Given the description of an element on the screen output the (x, y) to click on. 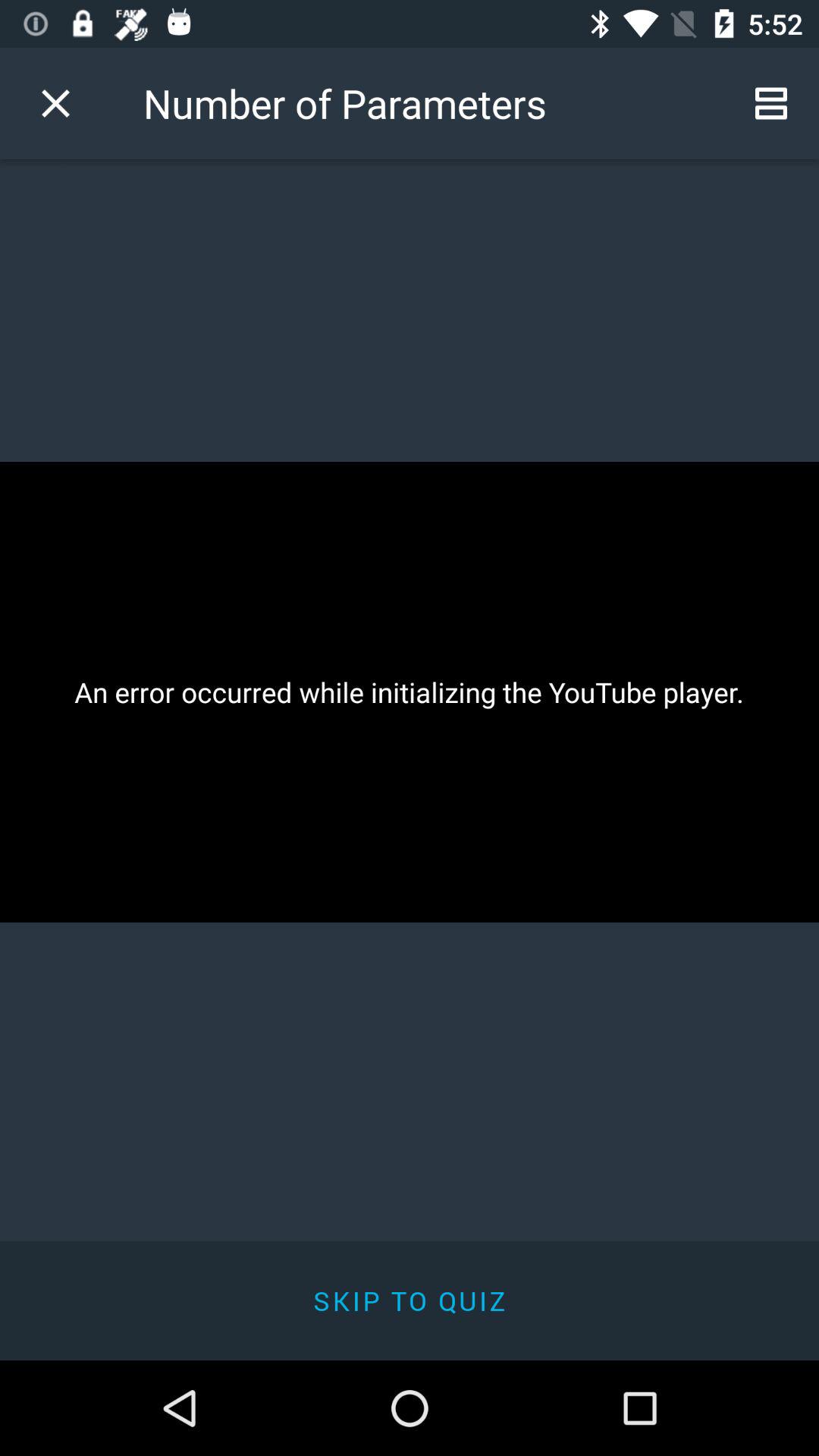
launch skip to quiz (409, 1300)
